Given the description of an element on the screen output the (x, y) to click on. 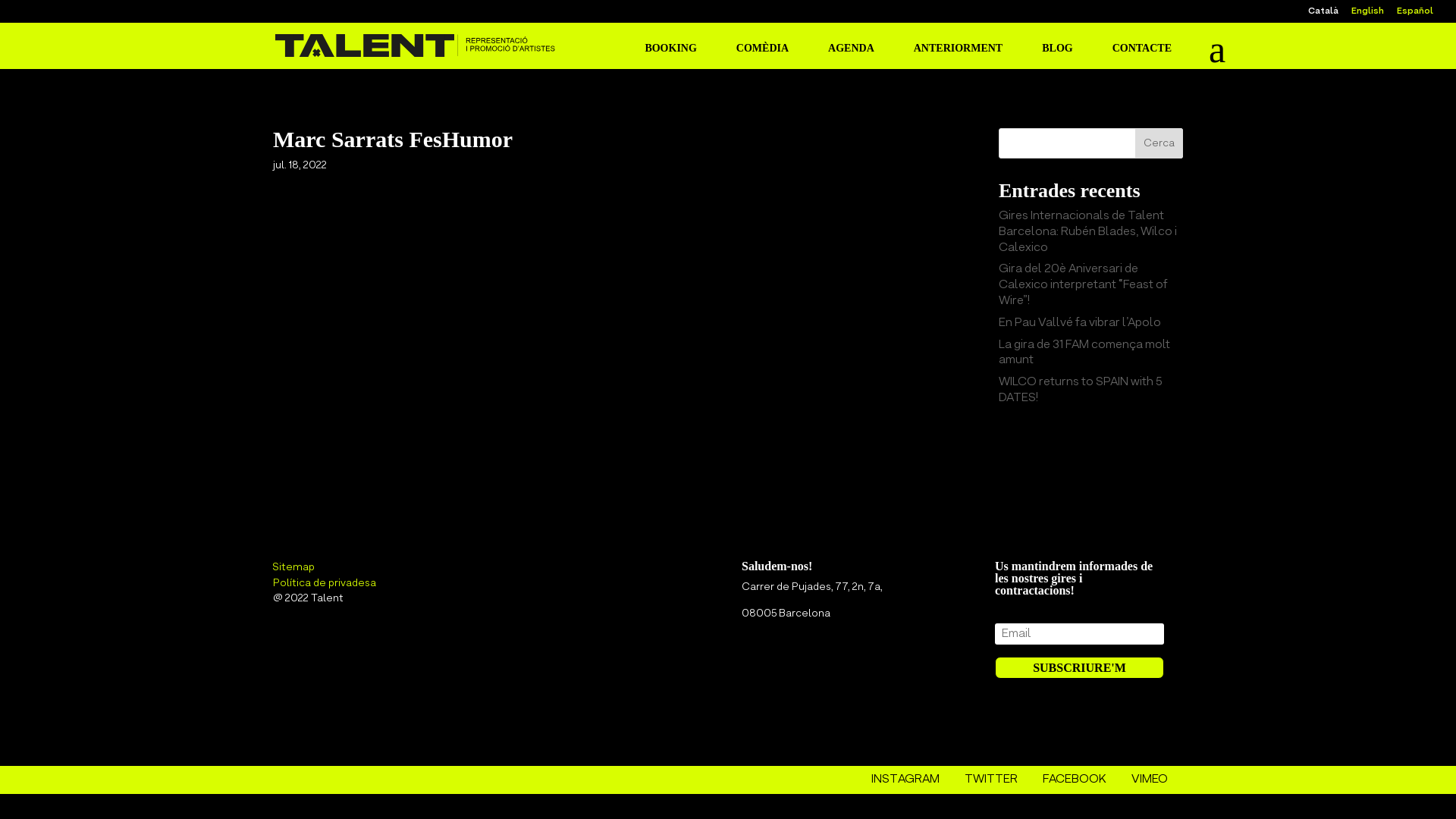
WILCO returns to SPAIN with 5 DATES! Element type: text (1080, 389)
Enviar Element type: text (880, 622)
CONTACTE Element type: text (1142, 53)
TWITTER Element type: text (998, 779)
VIMEO Element type: text (1157, 779)
INSTAGRAM Element type: text (912, 779)
ANTERIORMENT Element type: text (957, 53)
Sitemap Element type: text (293, 567)
FACEBOOK Element type: text (1081, 779)
SUBSCRIURE'M Element type: text (1079, 667)
English Element type: text (1367, 14)
Cerca Element type: text (1159, 143)
BLOG Element type: text (1056, 53)
BOOKING Element type: text (670, 53)
AGENDA Element type: text (850, 53)
